Given the description of an element on the screen output the (x, y) to click on. 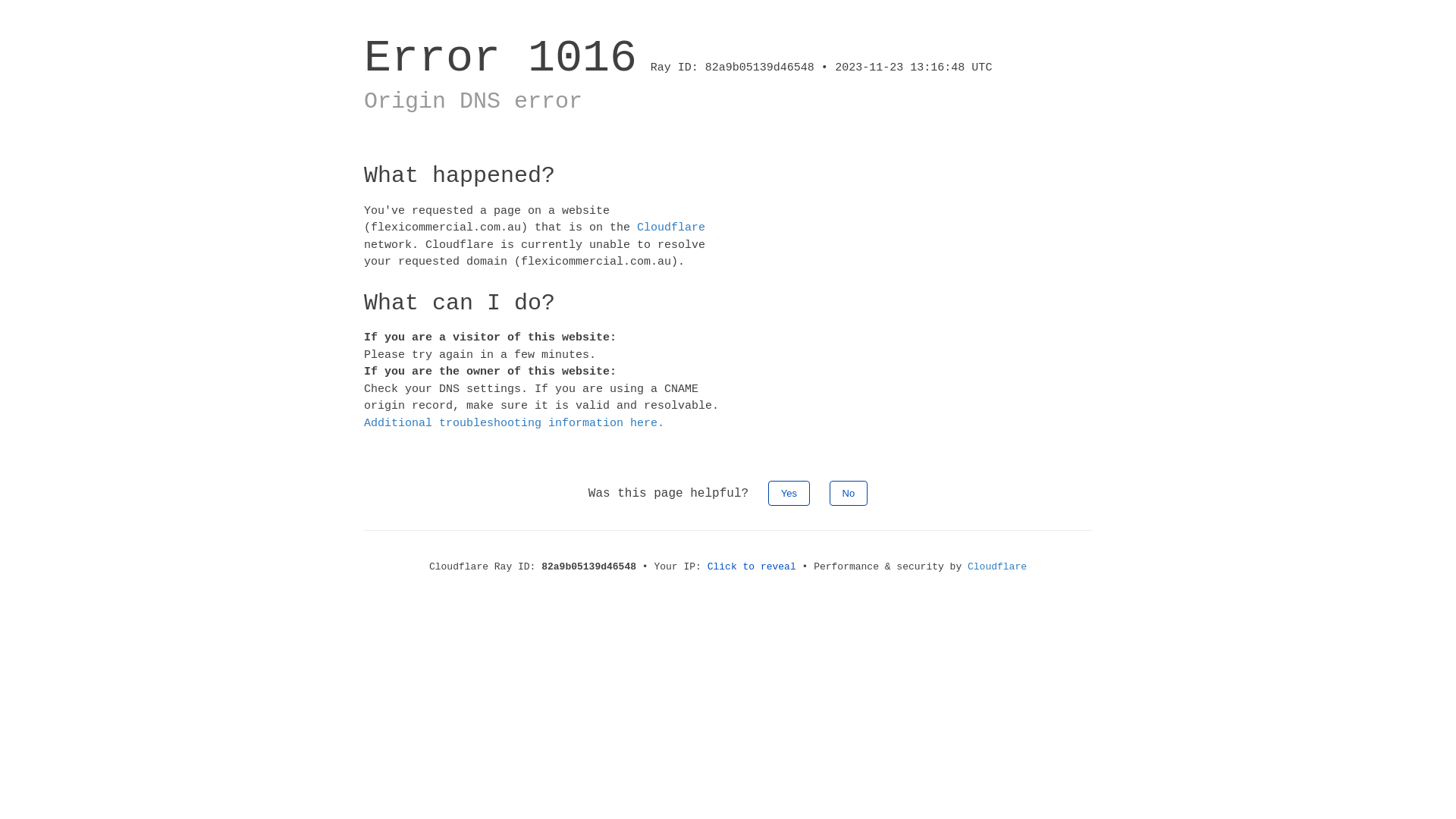
Yes Element type: text (788, 492)
Additional troubleshooting information here. Element type: text (514, 423)
Click to reveal Element type: text (751, 566)
Cloudflare Element type: text (996, 566)
No Element type: text (848, 492)
Cloudflare Element type: text (671, 227)
